Given the description of an element on the screen output the (x, y) to click on. 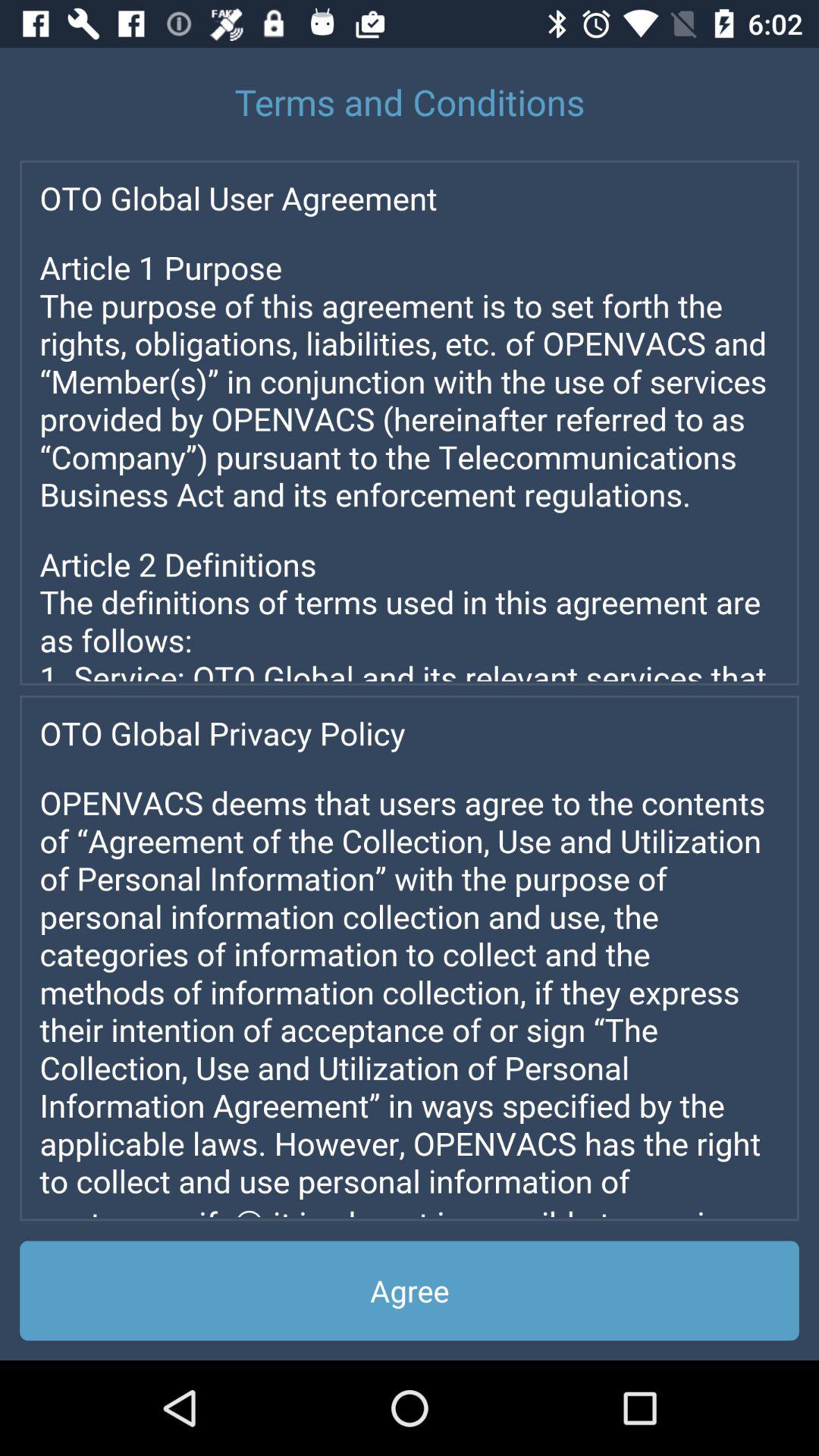
important page (409, 422)
